Given the description of an element on the screen output the (x, y) to click on. 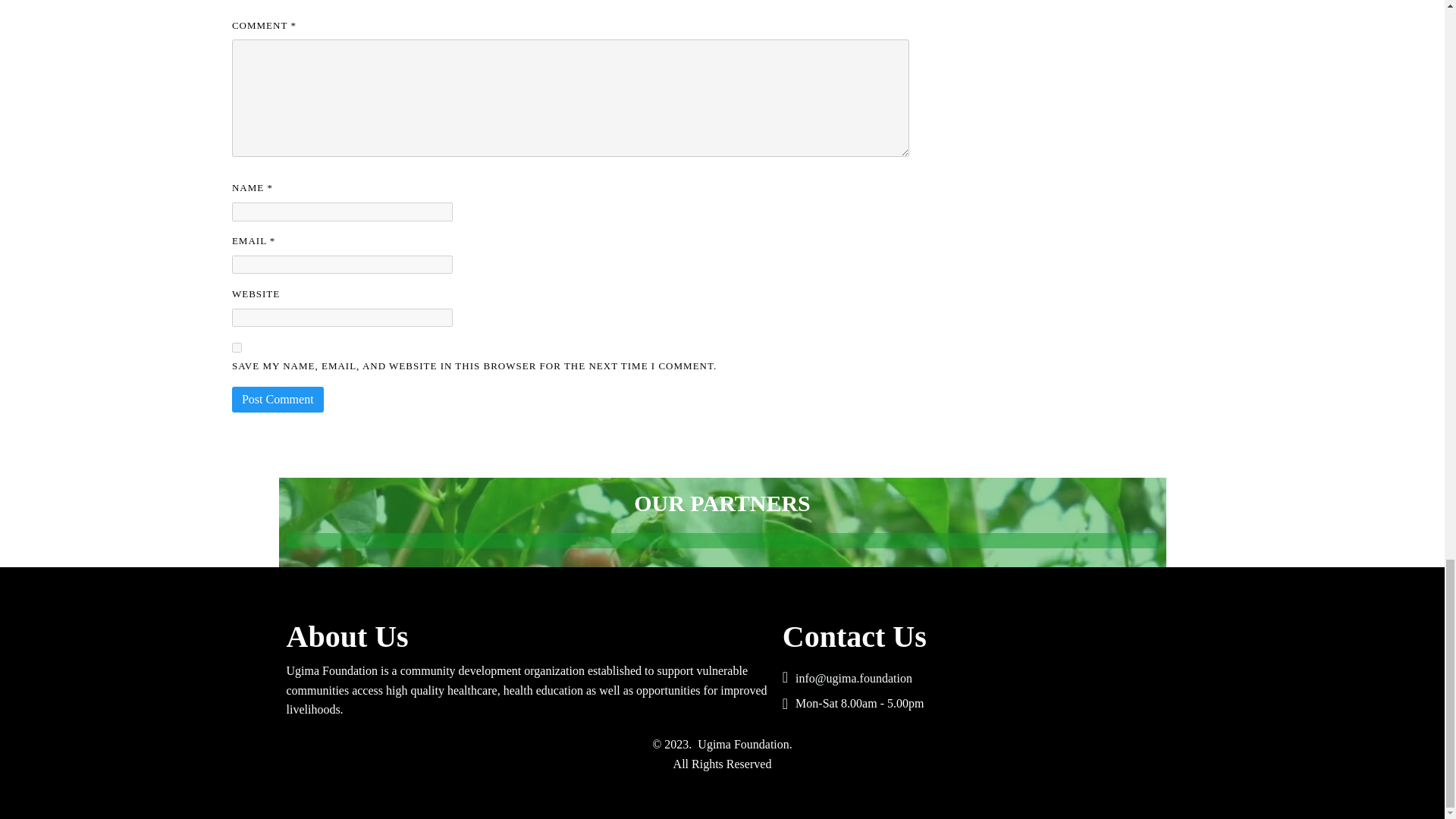
Post Comment (277, 399)
Post Comment (277, 399)
yes (236, 347)
